Given the description of an element on the screen output the (x, y) to click on. 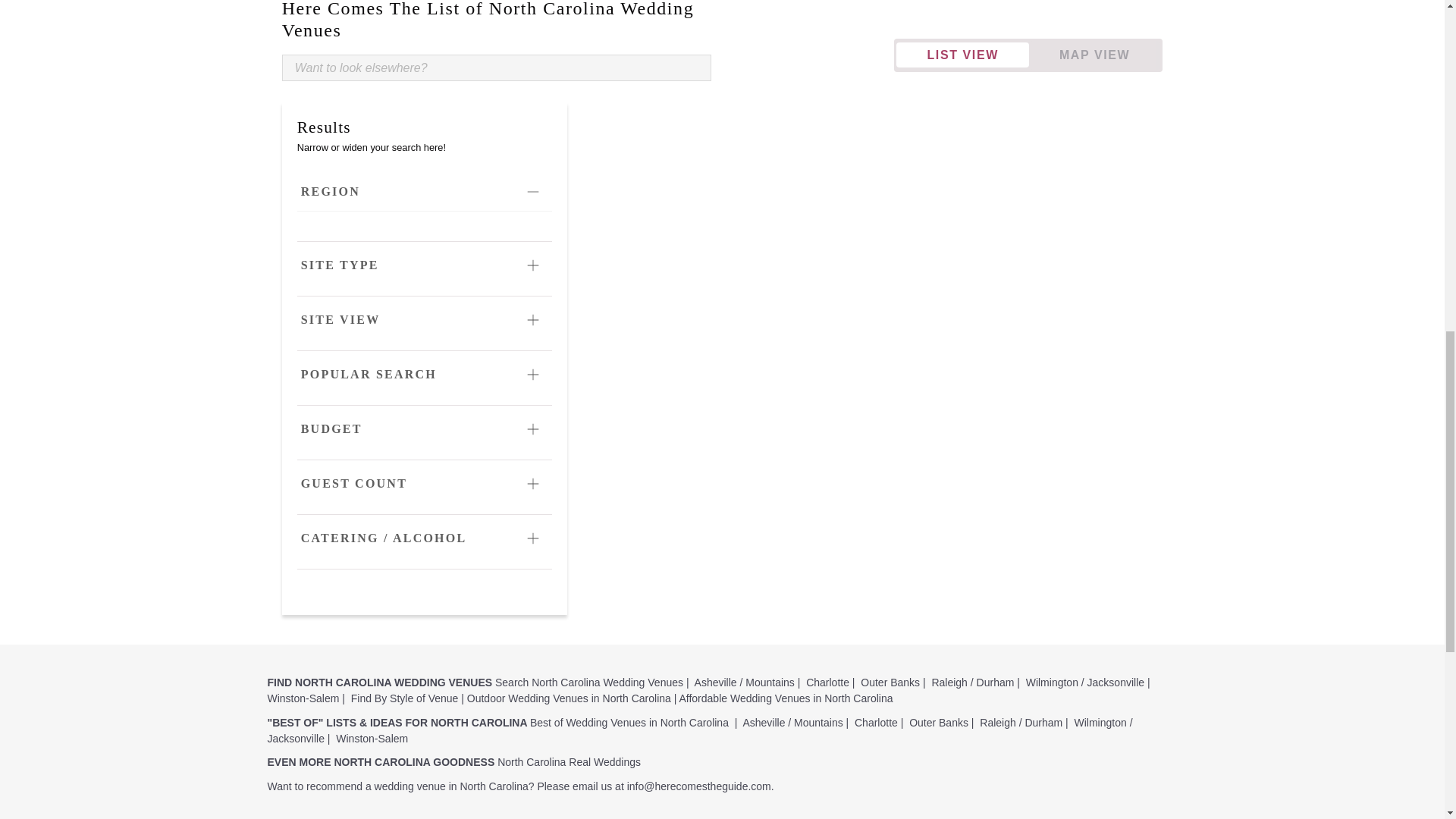
See Best of Charlotte Wedding Venues (876, 722)
See Best of Outer Banks Wedding Venues (938, 722)
See Best of Winston-Salem Wedding Venues (371, 738)
See All Charlotte Wedding Venues (827, 682)
Real North Carolina Weddings (568, 761)
See Best of North Carolina Wedding Venues (629, 722)
Search North Carolina Wedding Venues (588, 682)
See All Winston-Salem Wedding Venues (302, 698)
See All Outer Banks Wedding Venues (890, 682)
